Given the description of an element on the screen output the (x, y) to click on. 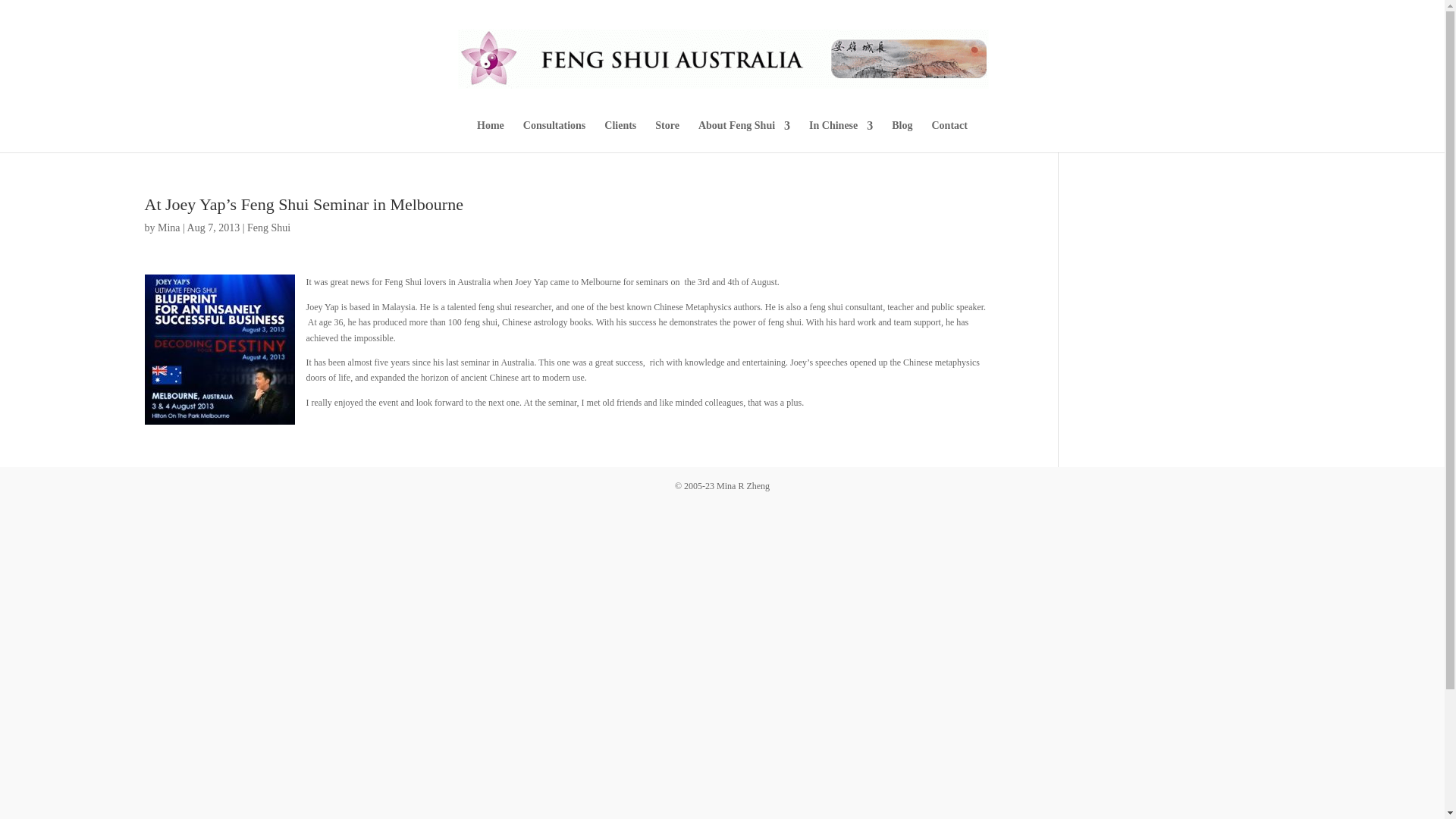
Contact (948, 136)
Consultations (553, 136)
In Chinese (840, 136)
Posts by Mina (168, 227)
About Feng Shui (744, 136)
Clients (620, 136)
